Given the description of an element on the screen output the (x, y) to click on. 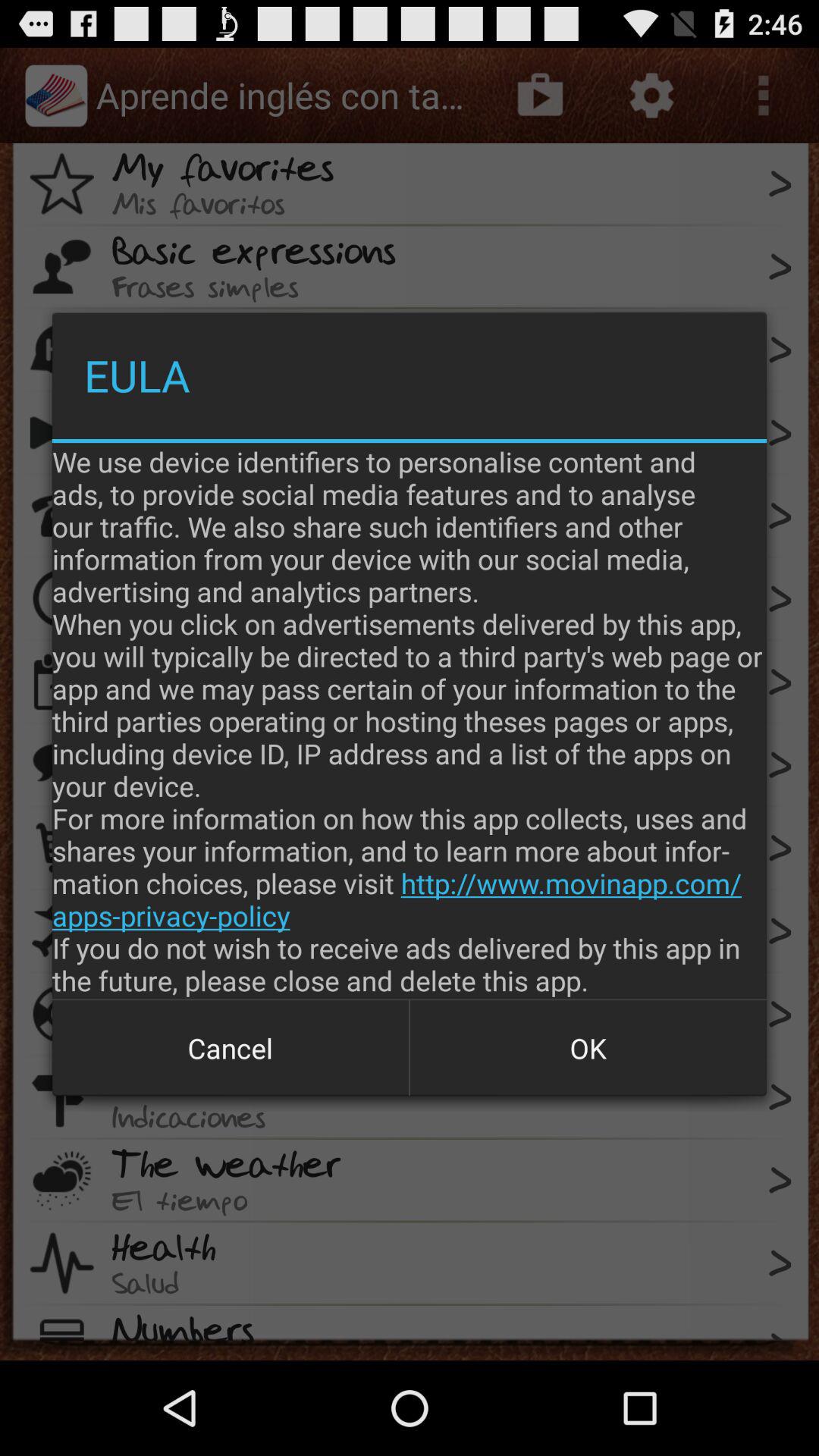
choose the item next to ok icon (230, 1047)
